Given the description of an element on the screen output the (x, y) to click on. 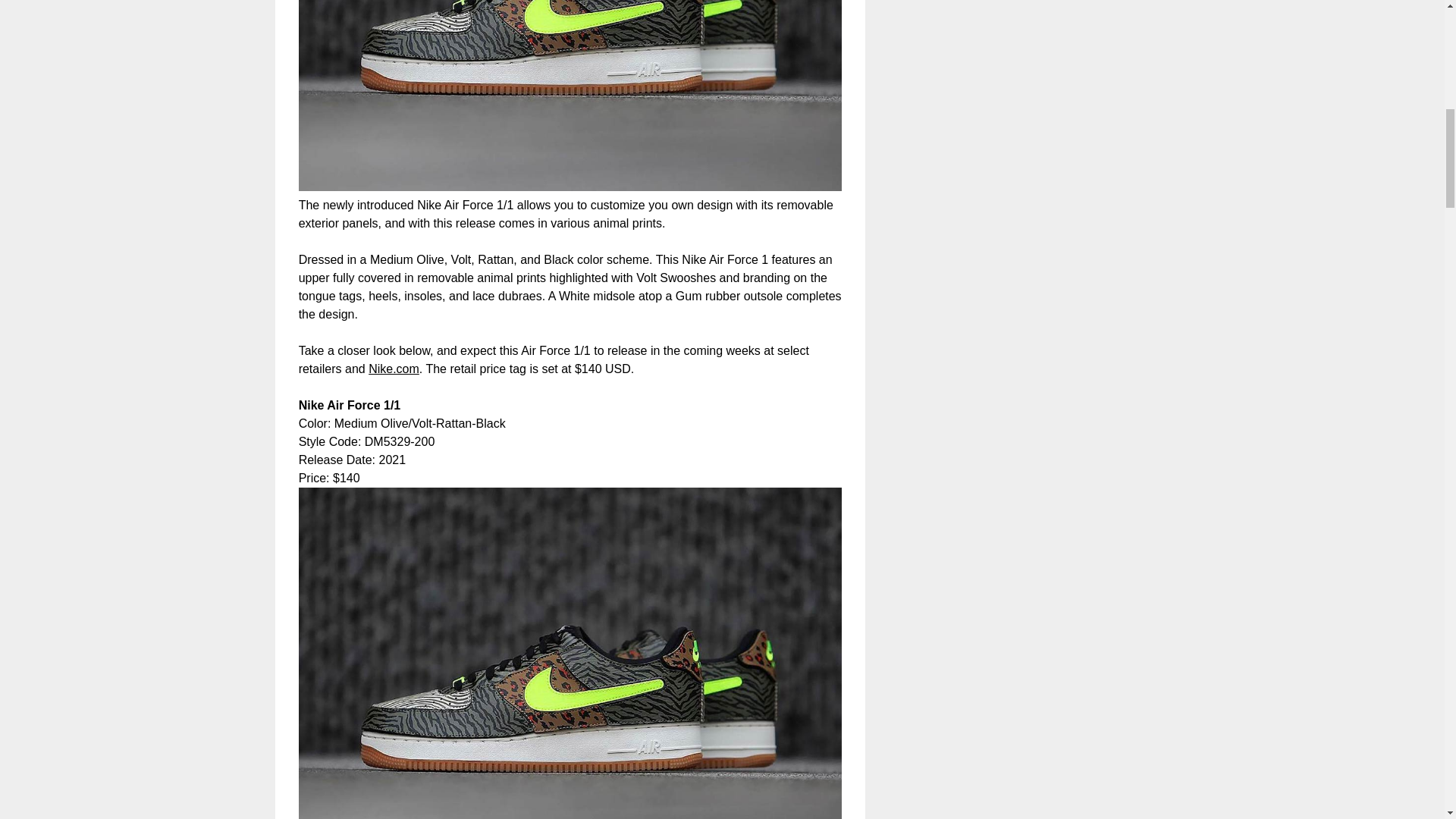
Nike.com (393, 368)
